Given the description of an element on the screen output the (x, y) to click on. 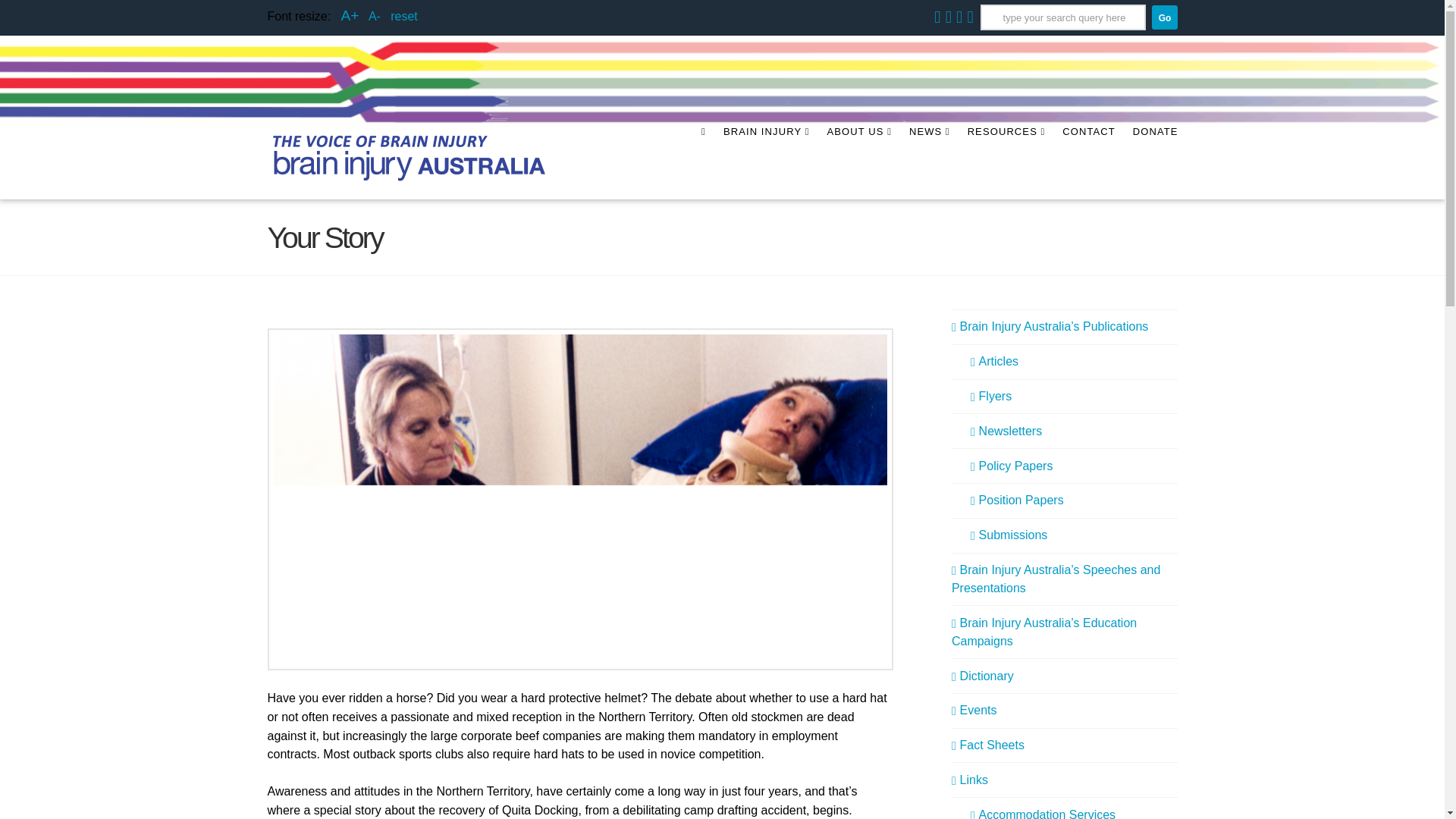
reset (403, 15)
BRAIN INJURY (766, 162)
decrease font size (374, 15)
ABOUT US (858, 162)
CONTACT (1088, 162)
Go (1163, 16)
RESOURCES (1006, 162)
A- (374, 15)
reset font size (403, 15)
Go (1163, 16)
